Given the description of an element on the screen output the (x, y) to click on. 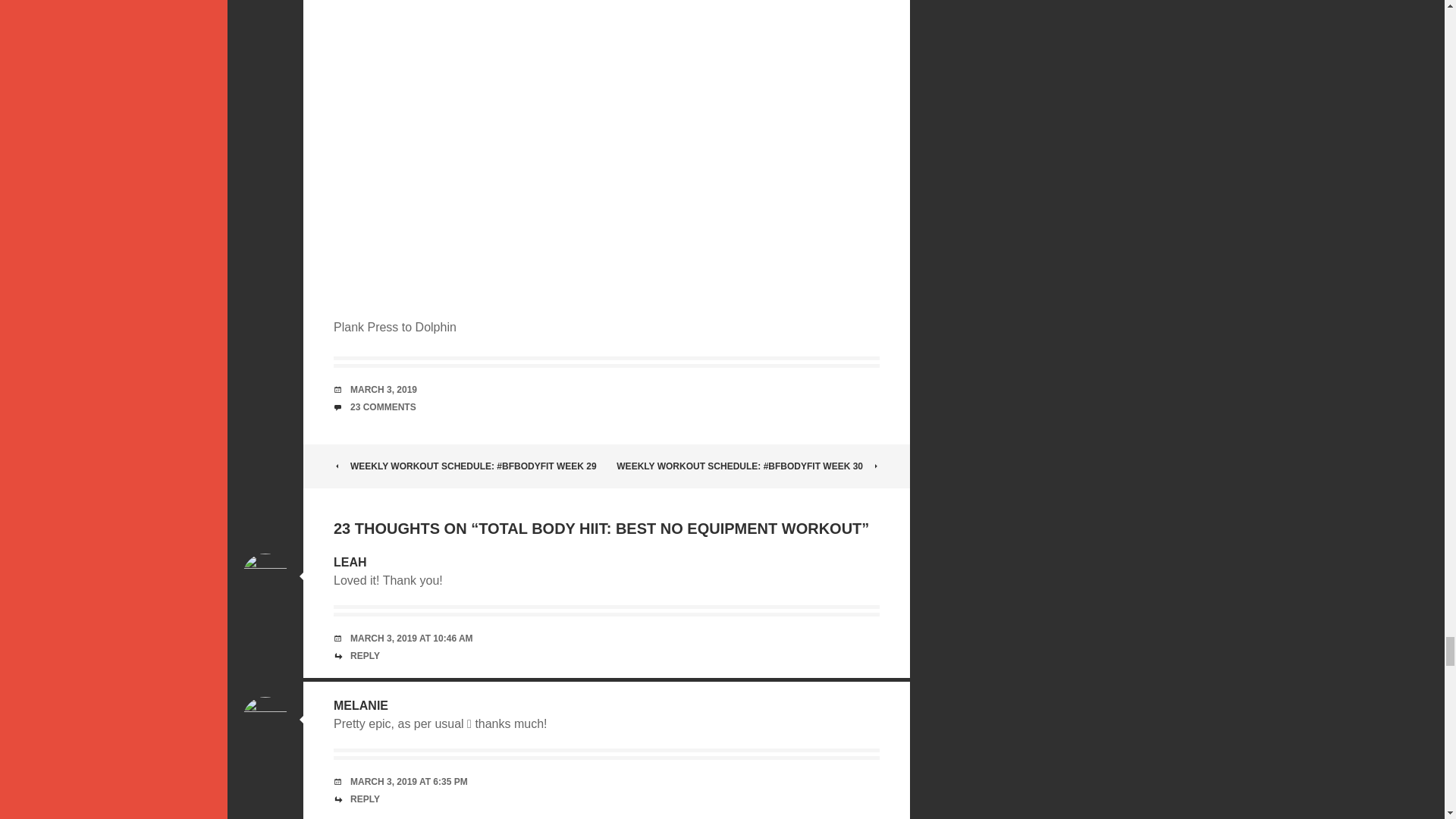
7:26 am (383, 389)
